Given the description of an element on the screen output the (x, y) to click on. 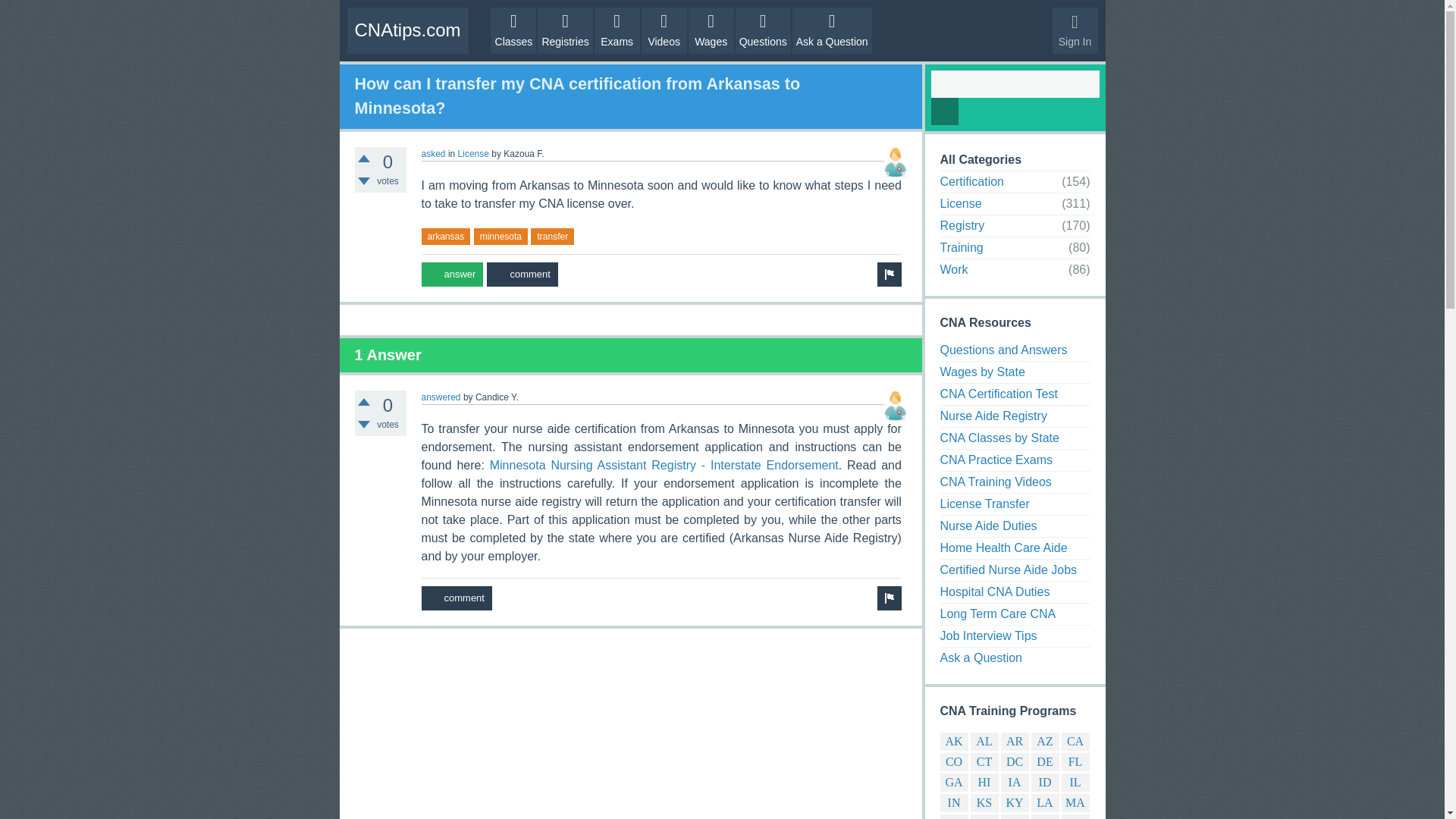
answer (452, 274)
flag (889, 598)
Videos (664, 30)
Wages (710, 30)
Click to vote down (363, 424)
Add a comment on this question (521, 274)
License (473, 153)
flag (889, 598)
asked (433, 153)
arkansas (446, 236)
flag (889, 274)
minnesota (500, 236)
comment (457, 598)
Search (944, 111)
CNAtips.com (407, 30)
